Given the description of an element on the screen output the (x, y) to click on. 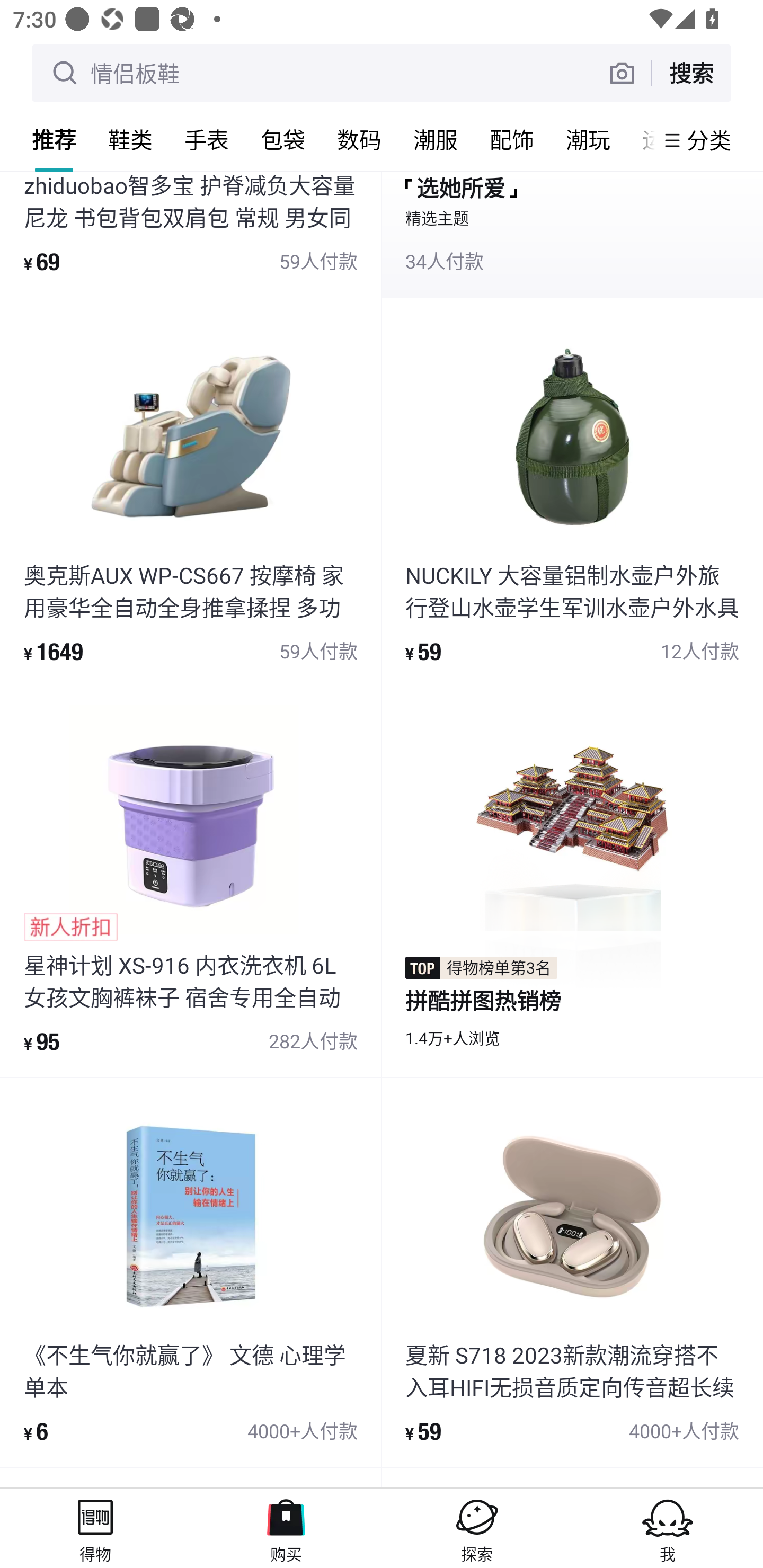
搜索 (690, 72)
推荐 (54, 139)
鞋类 (130, 139)
手表 (206, 139)
包袋 (282, 139)
数码 (359, 139)
潮服 (435, 139)
配饰 (511, 139)
潮玩 (588, 139)
分类 (708, 139)
选她所爱 精选主题 34人付款 (572, 233)
得物榜单第3名 拼酷拼图热销榜 1.4万+人浏览 (572, 882)
product_item 《不生气你就赢了》 文德 心理学 
单本 ¥ 6 4000+人付款 (190, 1272)
得物 (95, 1528)
购买 (285, 1528)
探索 (476, 1528)
我 (667, 1528)
